Given the description of an element on the screen output the (x, y) to click on. 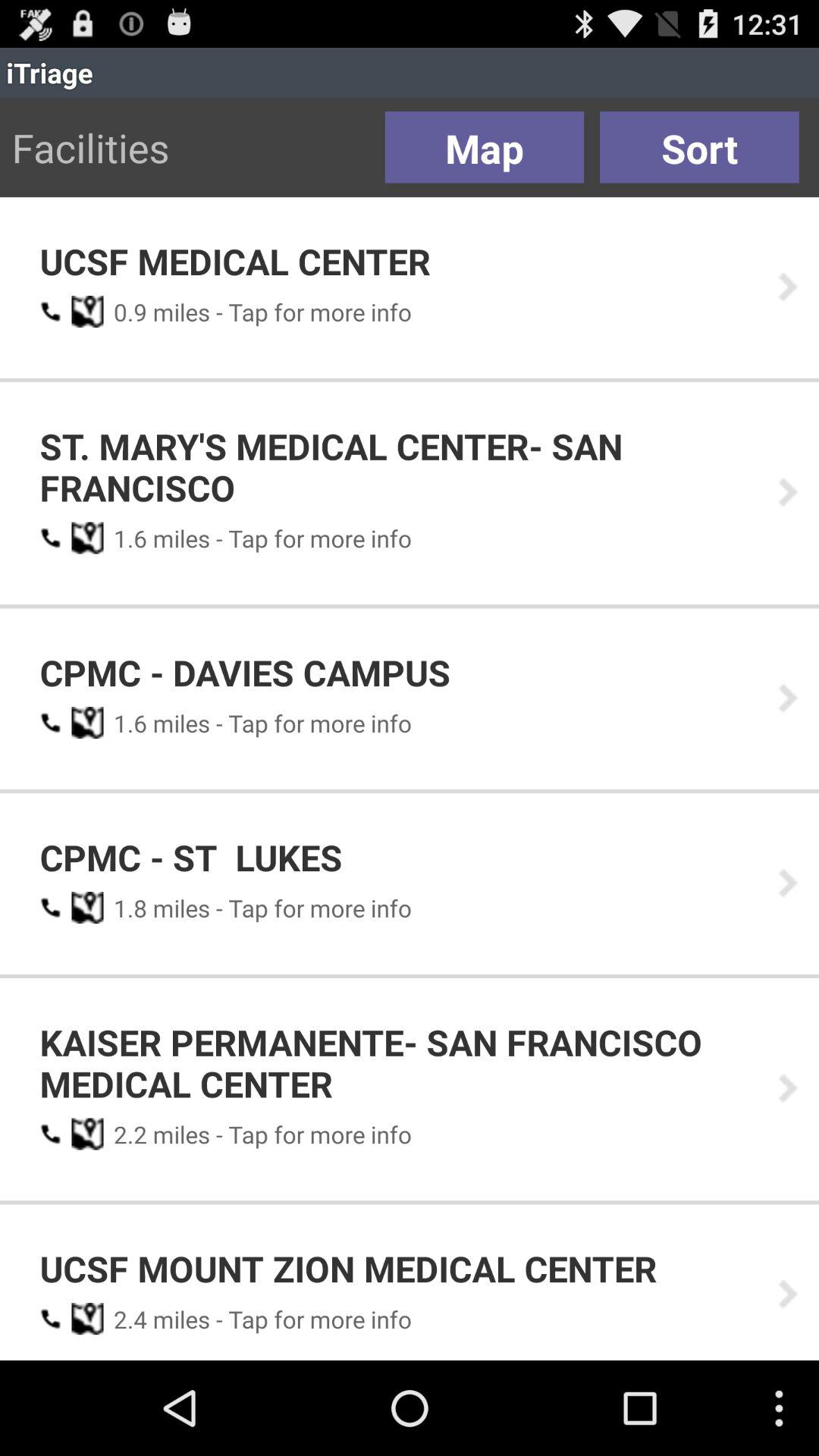
swipe until 0.9 app (125, 311)
